Given the description of an element on the screen output the (x, y) to click on. 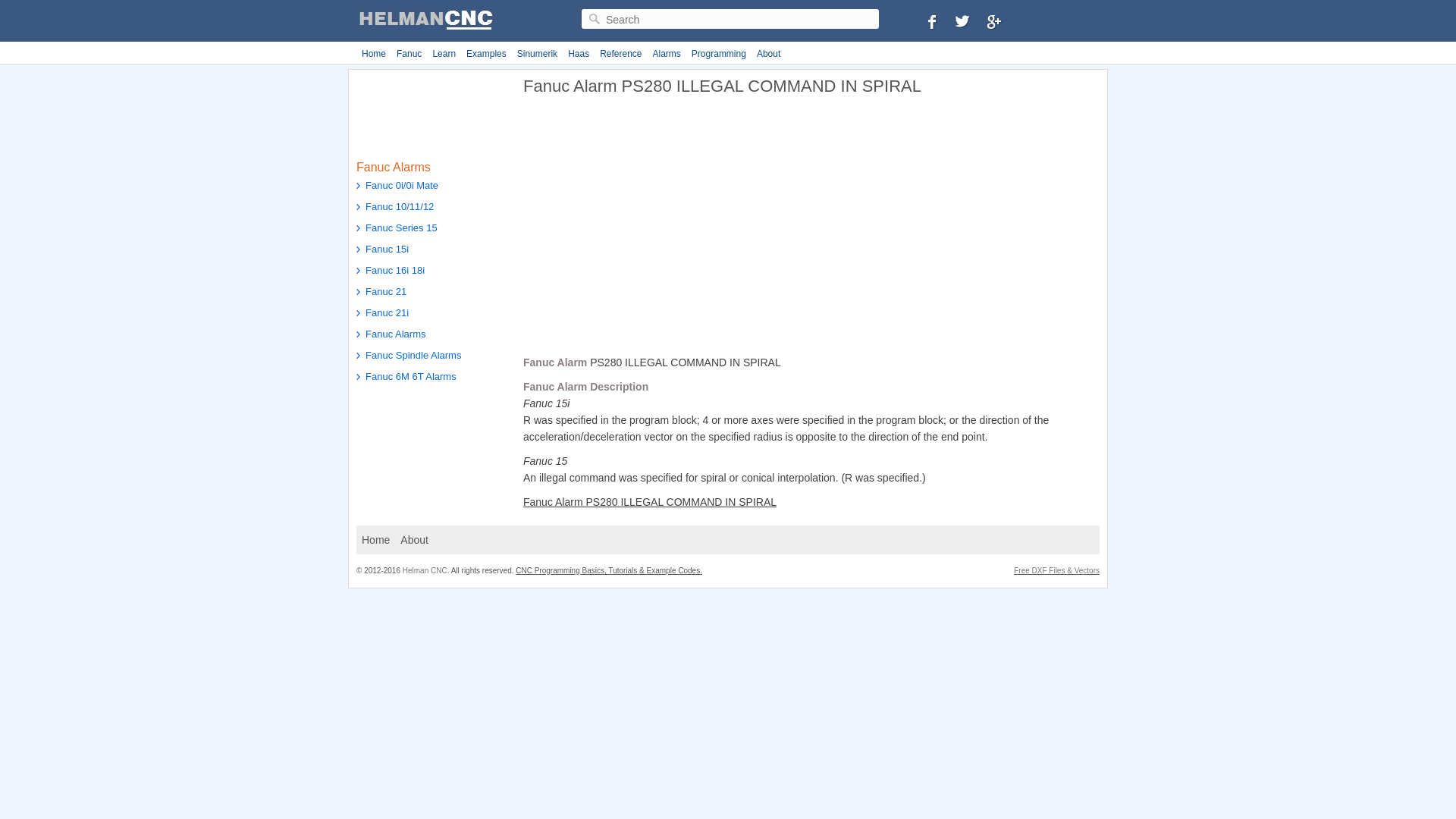
Fanuc 21i (432, 314)
Fanuc Alarms (432, 335)
Alarms (666, 54)
About (414, 539)
Fanuc 15i (432, 250)
Advertisement (432, 110)
Fanuc 6M 6T Alarms (432, 378)
Home (375, 539)
Advertisement (649, 231)
Sinumerik (537, 54)
